Given the description of an element on the screen output the (x, y) to click on. 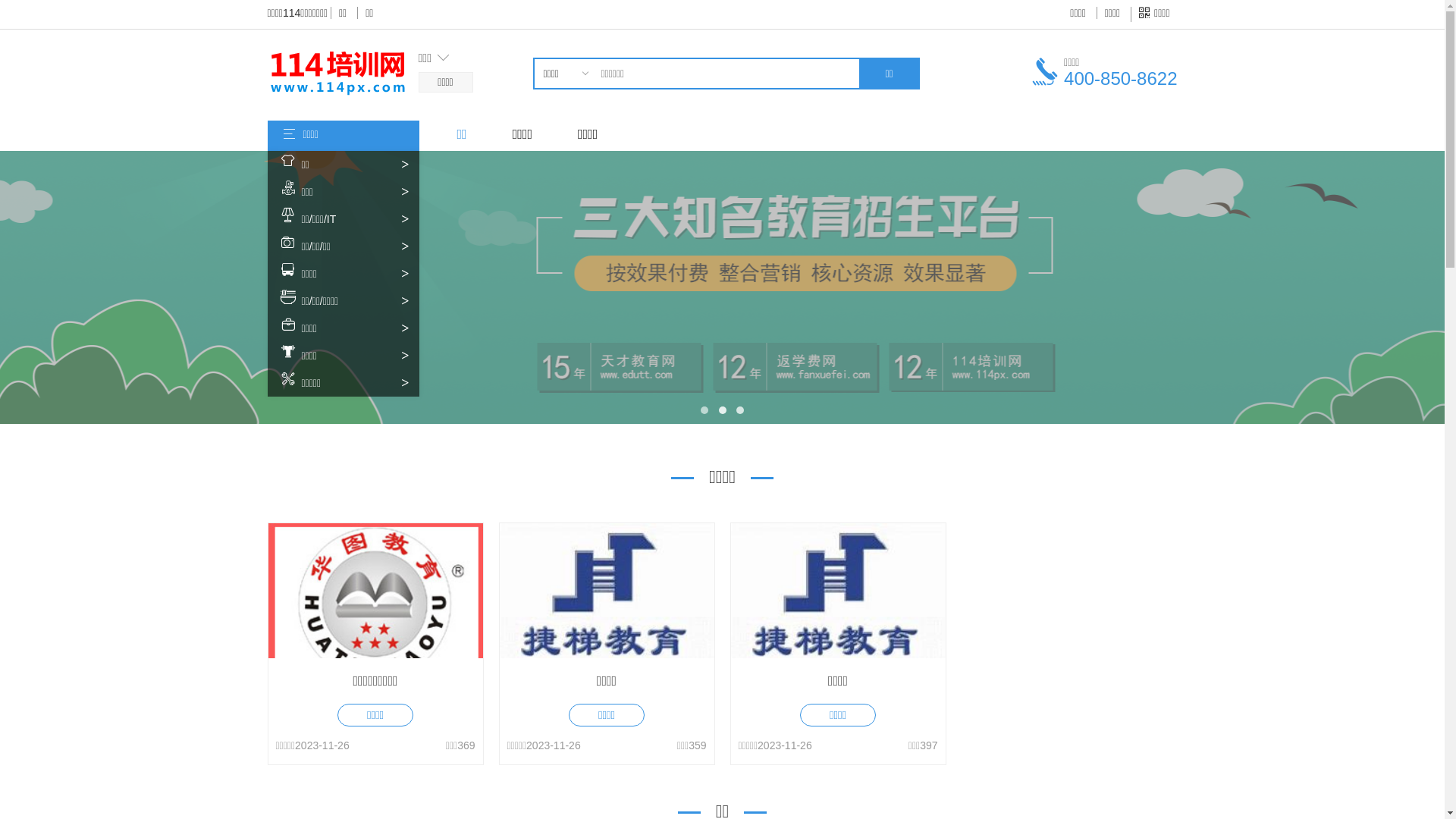
0 Element type: text (563, 119)
0 Element type: text (563, 100)
